Given the description of an element on the screen output the (x, y) to click on. 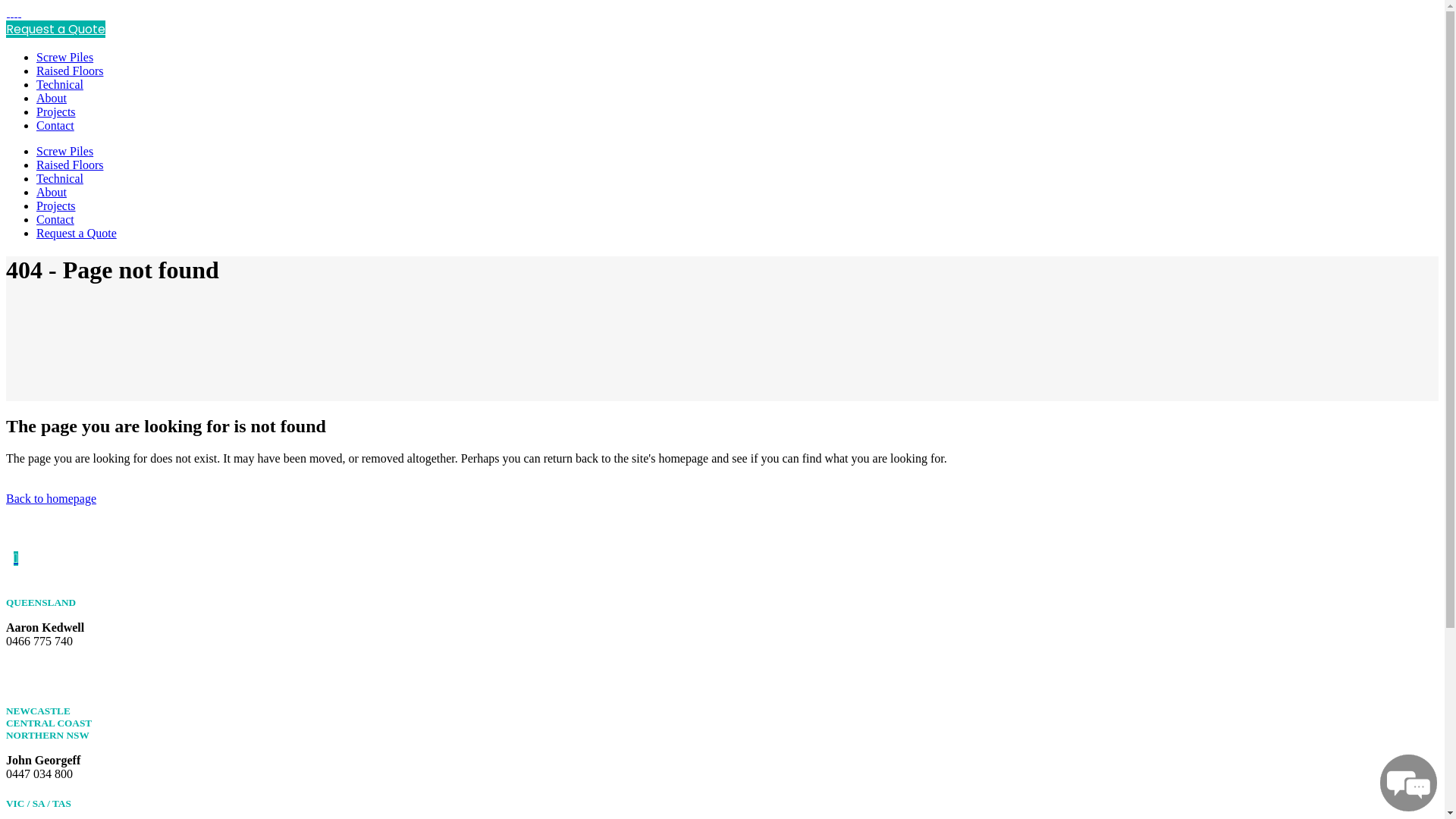
Raised Floors Element type: text (69, 164)
Contact Element type: text (55, 125)
Technical Element type: text (59, 84)
Contact Element type: text (55, 219)
Screw Piles Element type: text (64, 56)
Request a Quote Element type: text (55, 28)
Request a Quote Element type: text (76, 232)
Raised Floors Element type: text (69, 70)
About Element type: text (51, 97)
About Element type: text (51, 191)
Projects Element type: text (55, 205)
Projects Element type: text (55, 111)
Technical Element type: text (59, 178)
Back to homepage Element type: text (51, 498)
Screw Piles Element type: text (64, 150)
